Given the description of an element on the screen output the (x, y) to click on. 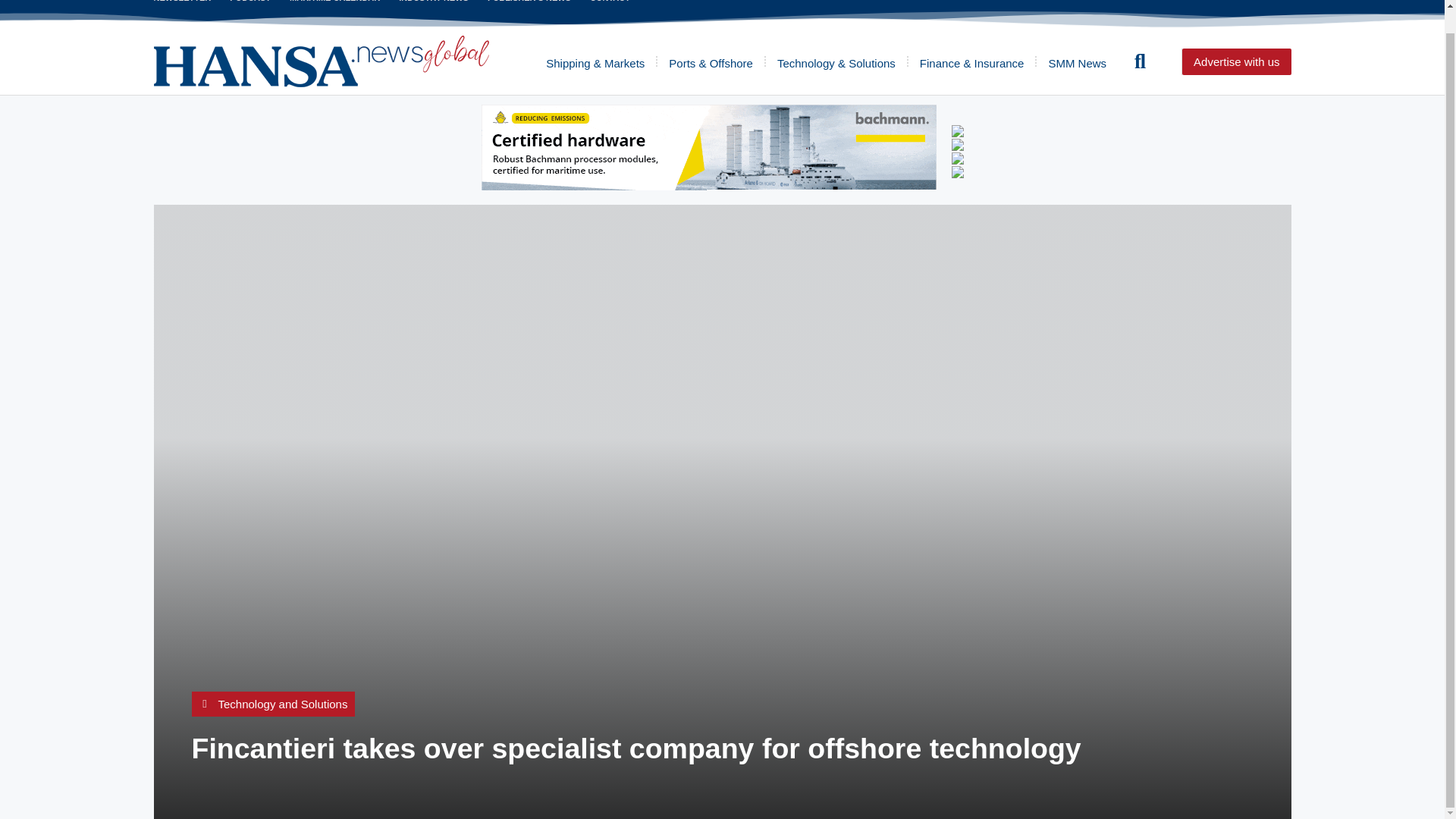
SMM News (1077, 61)
NEWSLETTER (181, 2)
INDUSTRY NEWS (433, 2)
CONTACT (609, 2)
MARITIME CALENDAR (334, 2)
PODCAST (250, 2)
